Given the description of an element on the screen output the (x, y) to click on. 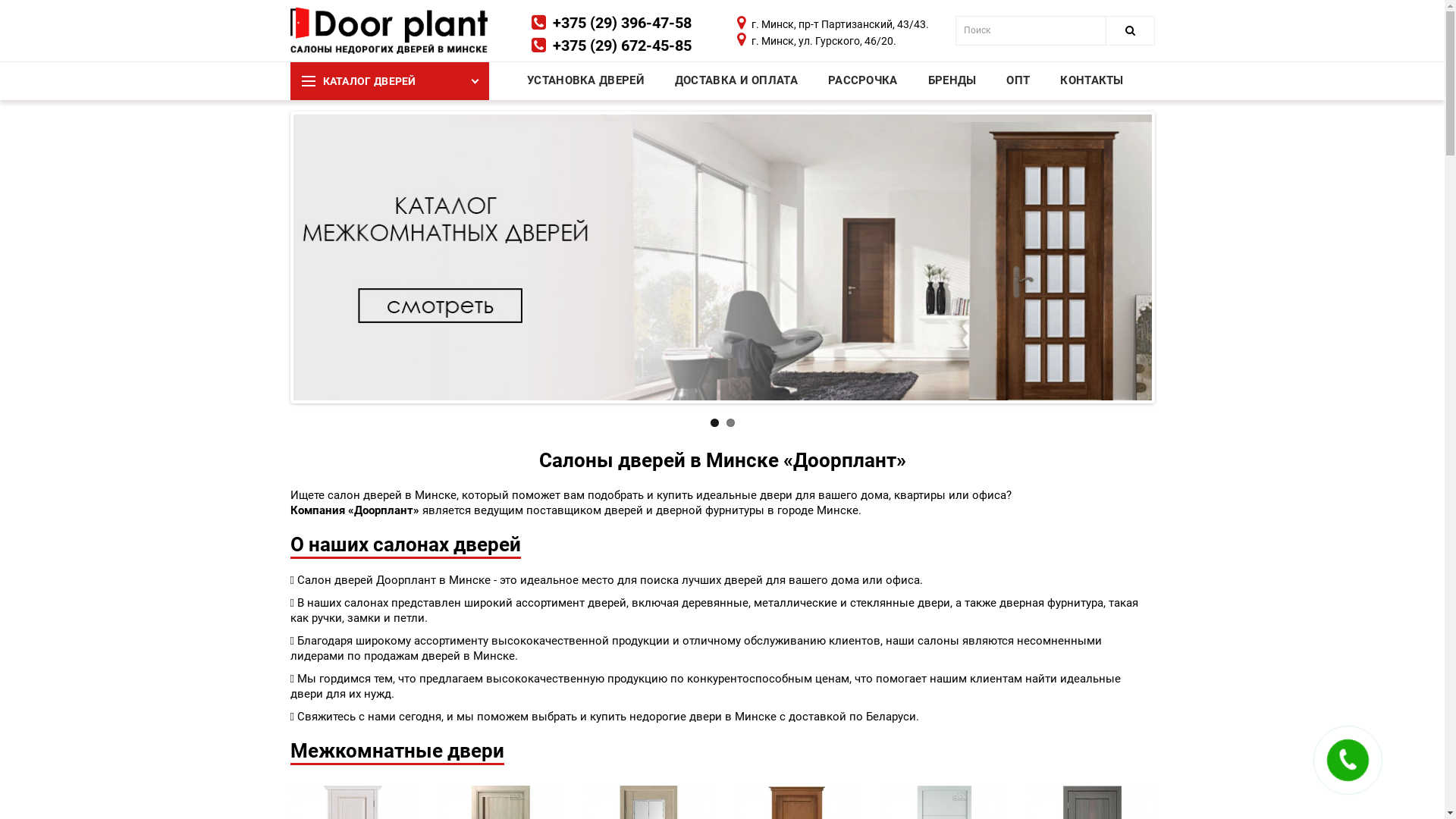
+375 (29) 396-47-58 Element type: text (621, 22)
+375 (29) 672-45-85 Element type: text (621, 45)
